Given the description of an element on the screen output the (x, y) to click on. 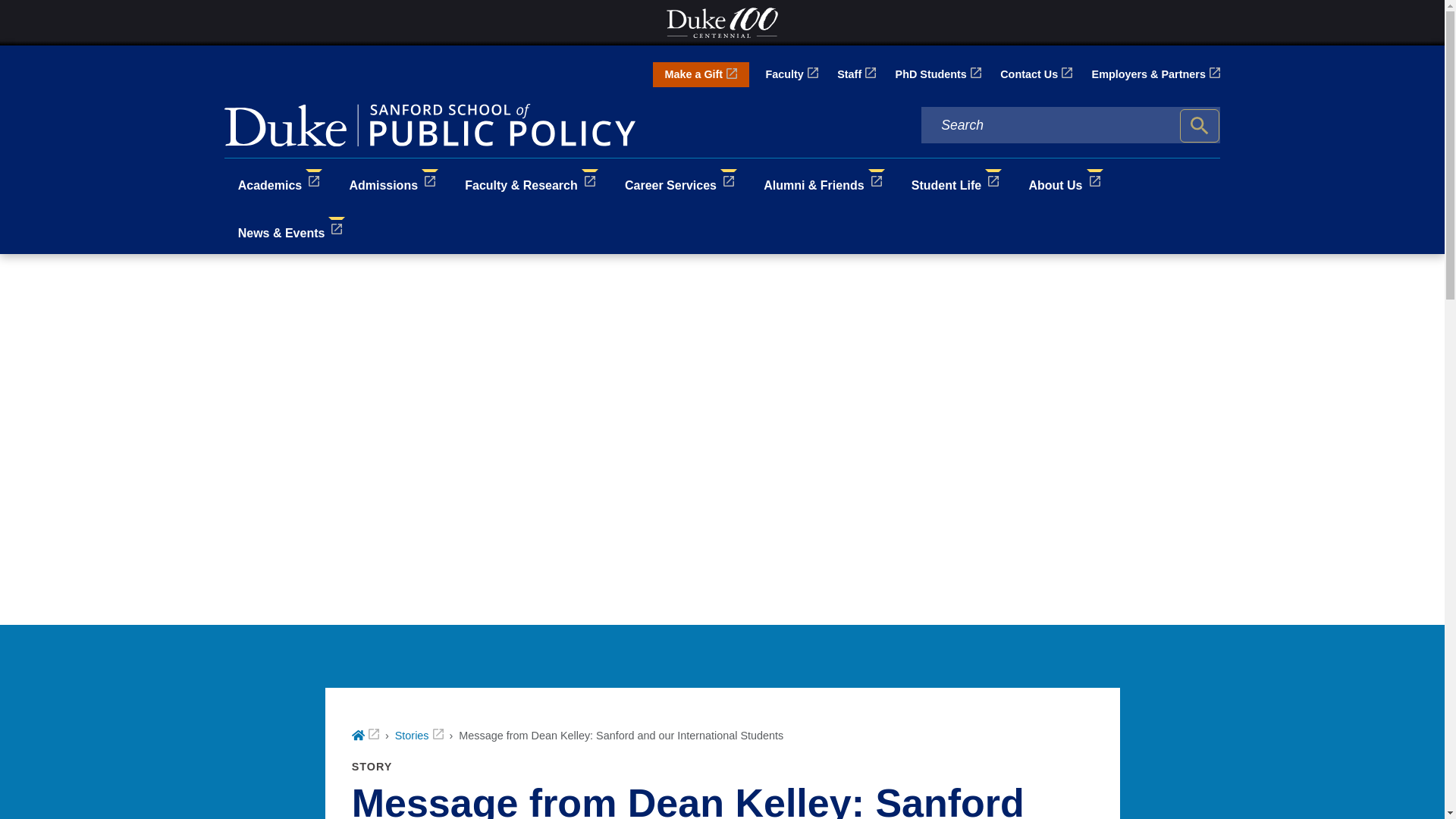
PhD Students (938, 74)
Staff (856, 74)
Academics (280, 182)
Make a Gift (700, 74)
Admissions (393, 182)
Faculty (790, 74)
Home (365, 735)
Contact Us (1035, 74)
